Given the description of an element on the screen output the (x, y) to click on. 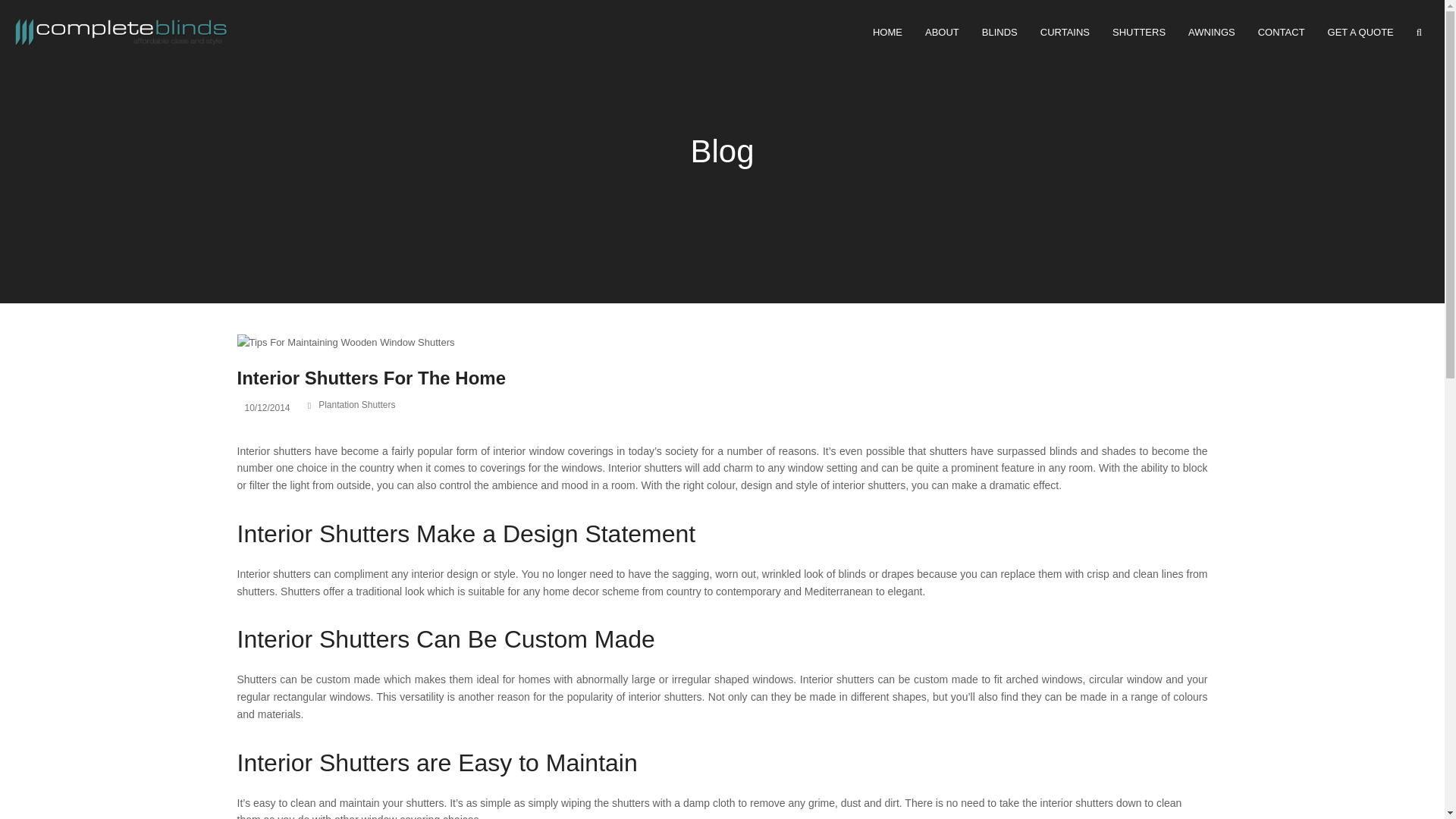
Plantation Shutters (1138, 32)
GET A QUOTE (1360, 32)
Plantation Shutters (356, 404)
CONTACT (1281, 32)
ABOUT (942, 32)
Outdoor Awnings (1211, 32)
SHUTTERS (1138, 32)
HOME (887, 32)
About (942, 32)
Blinds (1000, 32)
CURTAINS (1064, 32)
GET A QUOTE (1360, 32)
AWNINGS (1211, 32)
Contact (1281, 32)
BLINDS (1000, 32)
